Given the description of an element on the screen output the (x, y) to click on. 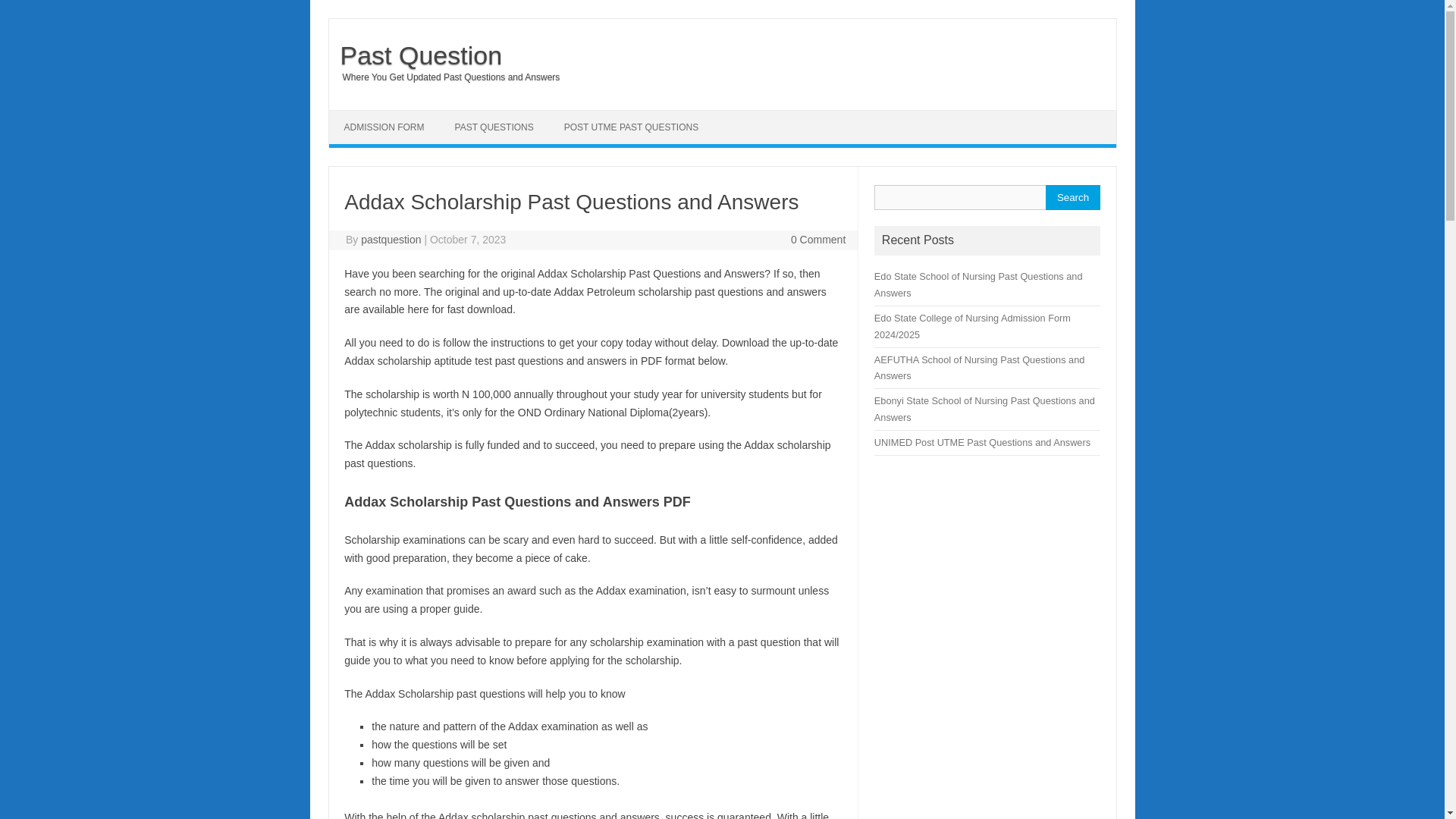
POST UTME PAST QUESTIONS (630, 127)
0 Comment (817, 239)
Past Question (415, 54)
ADMISSION FORM (384, 127)
PAST QUESTIONS (493, 127)
Search (1072, 197)
Skip to content (363, 114)
Search (1072, 197)
Edo State School of Nursing Past Questions and Answers (979, 284)
Where You Get Updated Past Questions and Answers (444, 77)
Skip to content (363, 114)
pastquestion (390, 239)
Ebonyi State School of Nursing Past Questions and Answers (984, 408)
Past Question (415, 54)
UNIMED Post UTME Past Questions and Answers (982, 441)
